Given the description of an element on the screen output the (x, y) to click on. 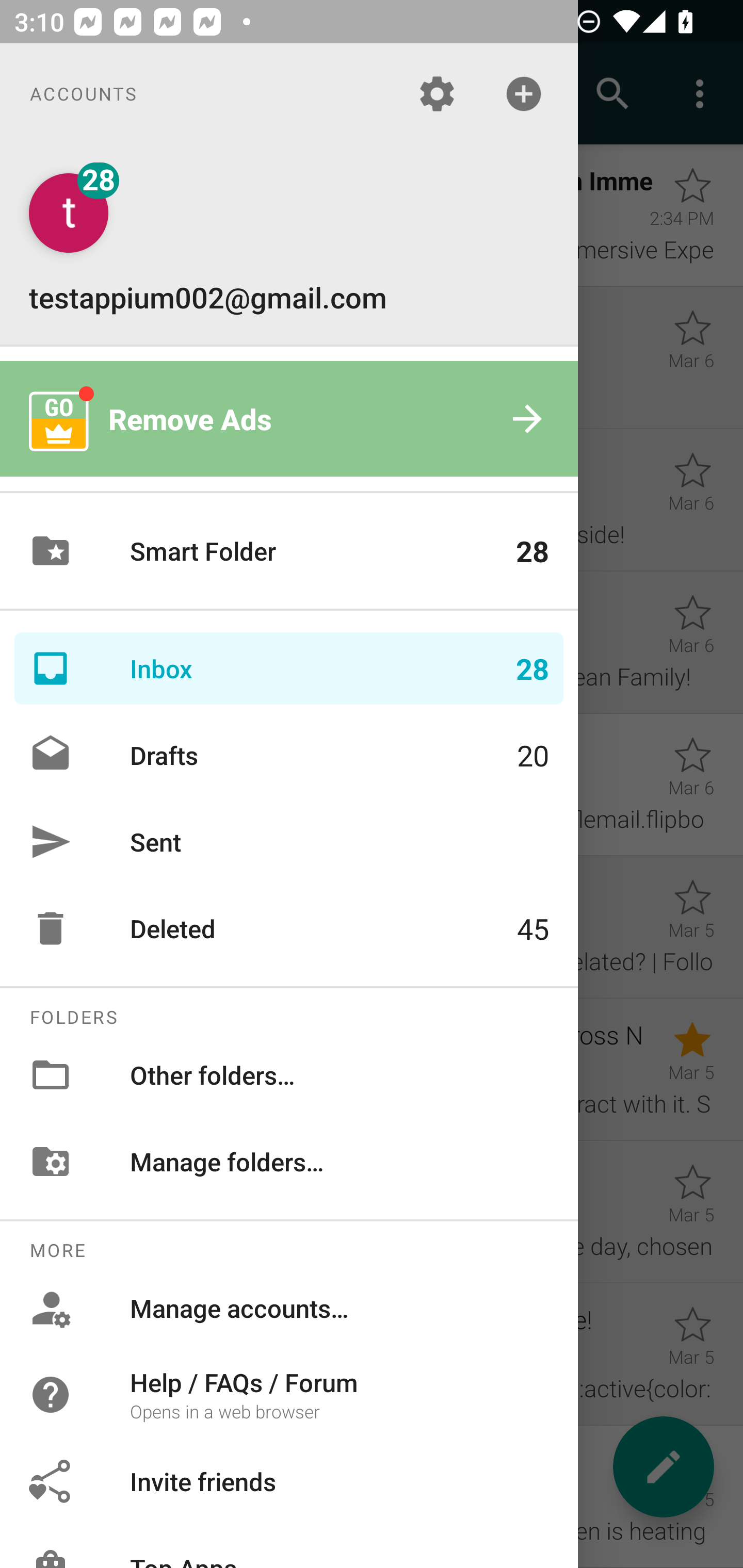
testappium002@gmail.com (289, 244)
Remove Ads (289, 418)
Smart Folder 28 (289, 551)
Inbox 28 (289, 668)
Drafts 20 (289, 754)
Sent (289, 841)
Deleted 45 (289, 928)
Other folders… (289, 1074)
Manage folders… (289, 1160)
Manage accounts… (289, 1308)
Help / FAQs / Forum Opens in a web browser (289, 1394)
Invite friends (289, 1480)
